Given the description of an element on the screen output the (x, y) to click on. 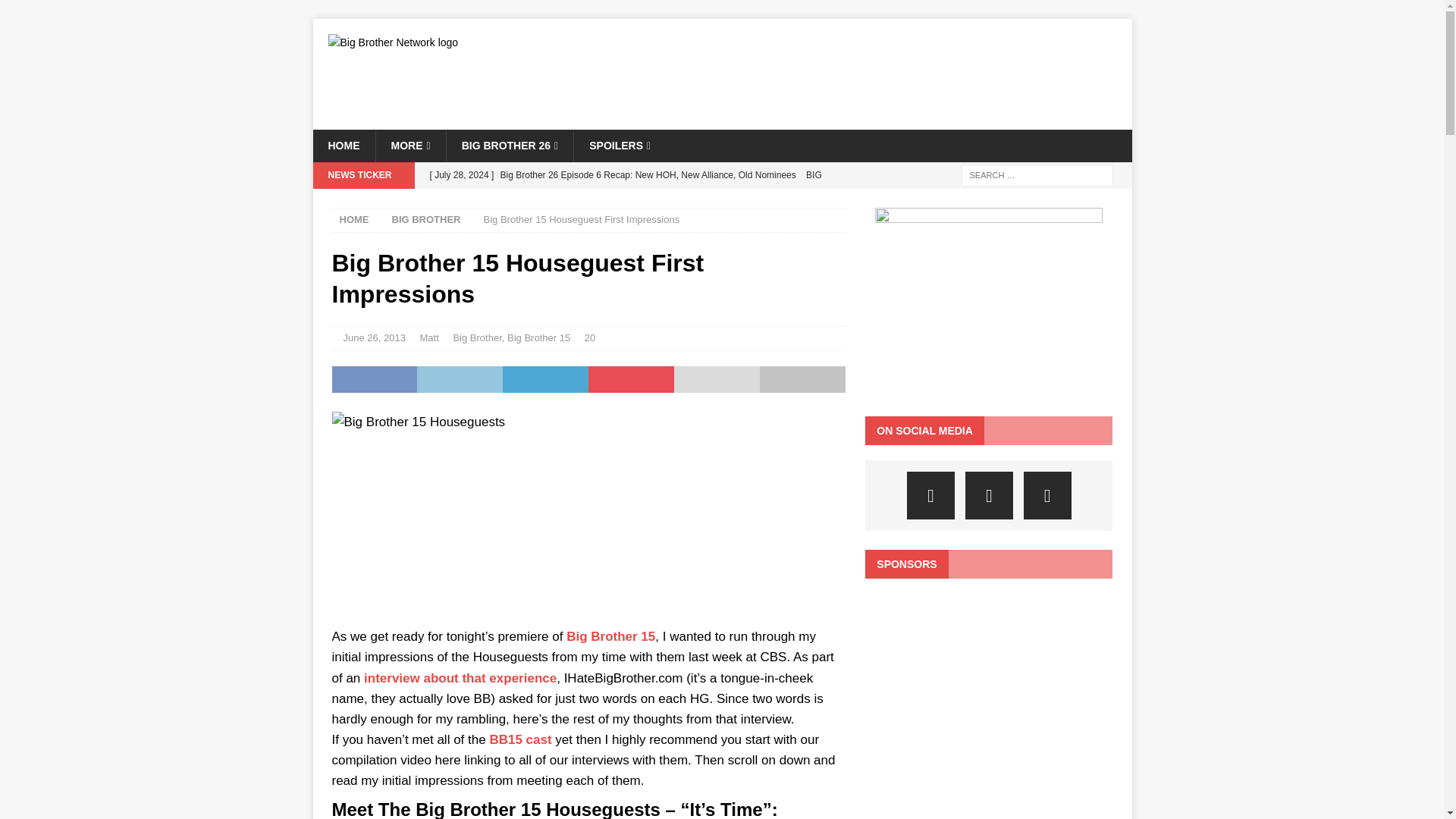
HOME (343, 145)
MORE (409, 145)
BIG BROTHER 26 (509, 145)
